Given the description of an element on the screen output the (x, y) to click on. 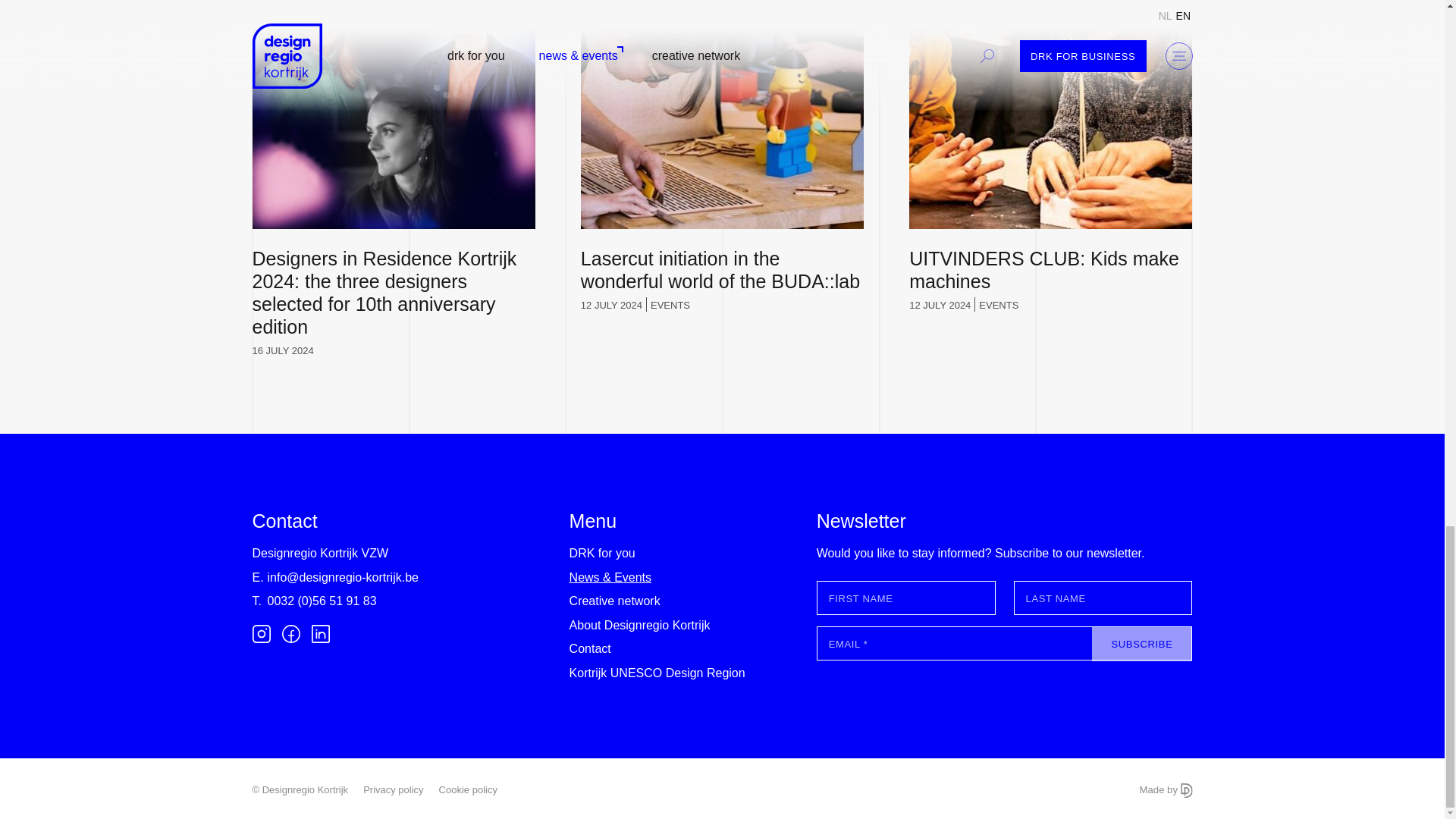
Creative network (615, 601)
Facebook (290, 633)
Instagram (260, 633)
DRK for you (601, 553)
Linkedin (320, 633)
